Given the description of an element on the screen output the (x, y) to click on. 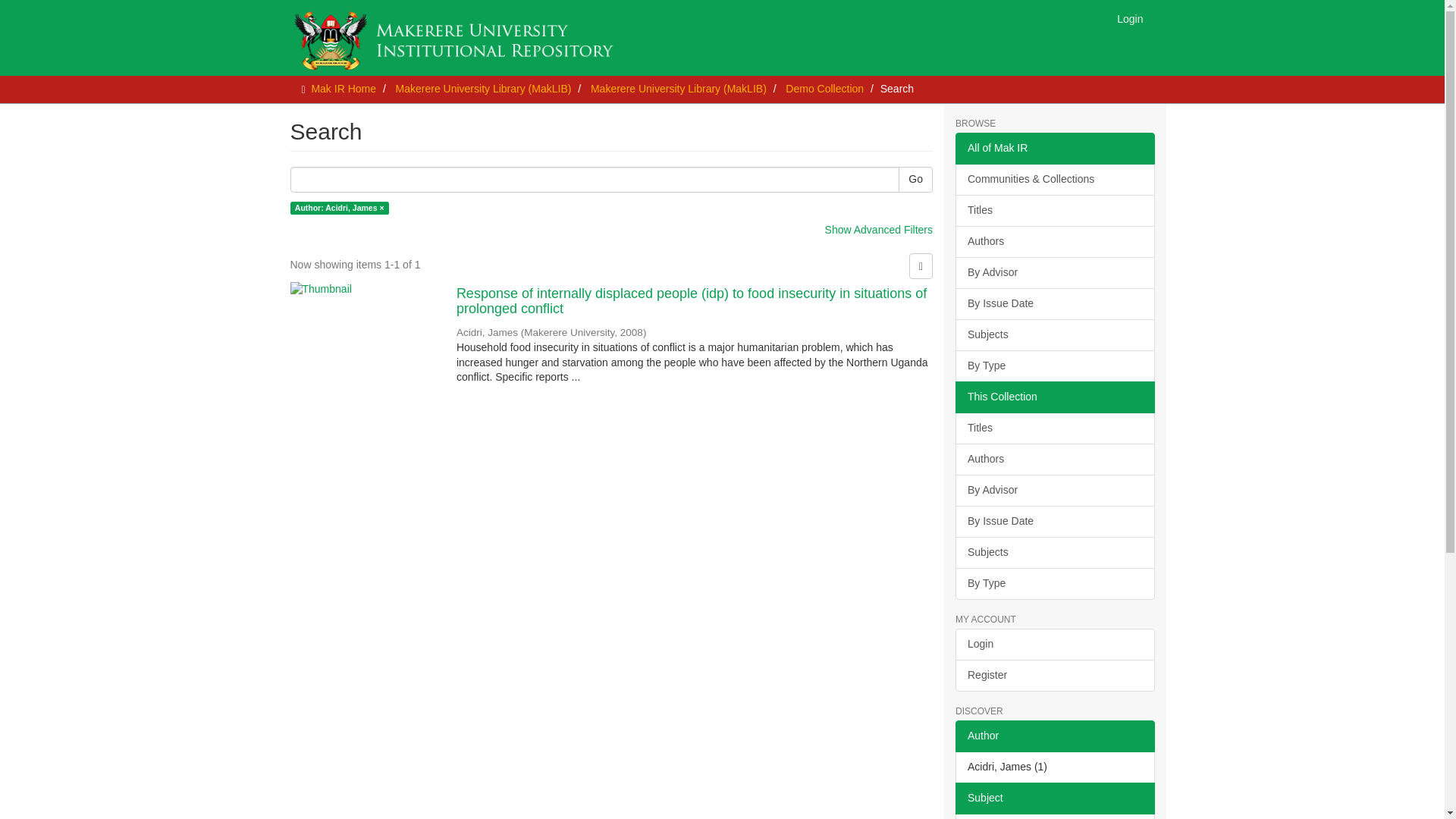
Go (915, 179)
Mak IR Home (343, 88)
Demo Collection (824, 88)
Show Advanced Filters (879, 229)
Login (1129, 18)
